Given the description of an element on the screen output the (x, y) to click on. 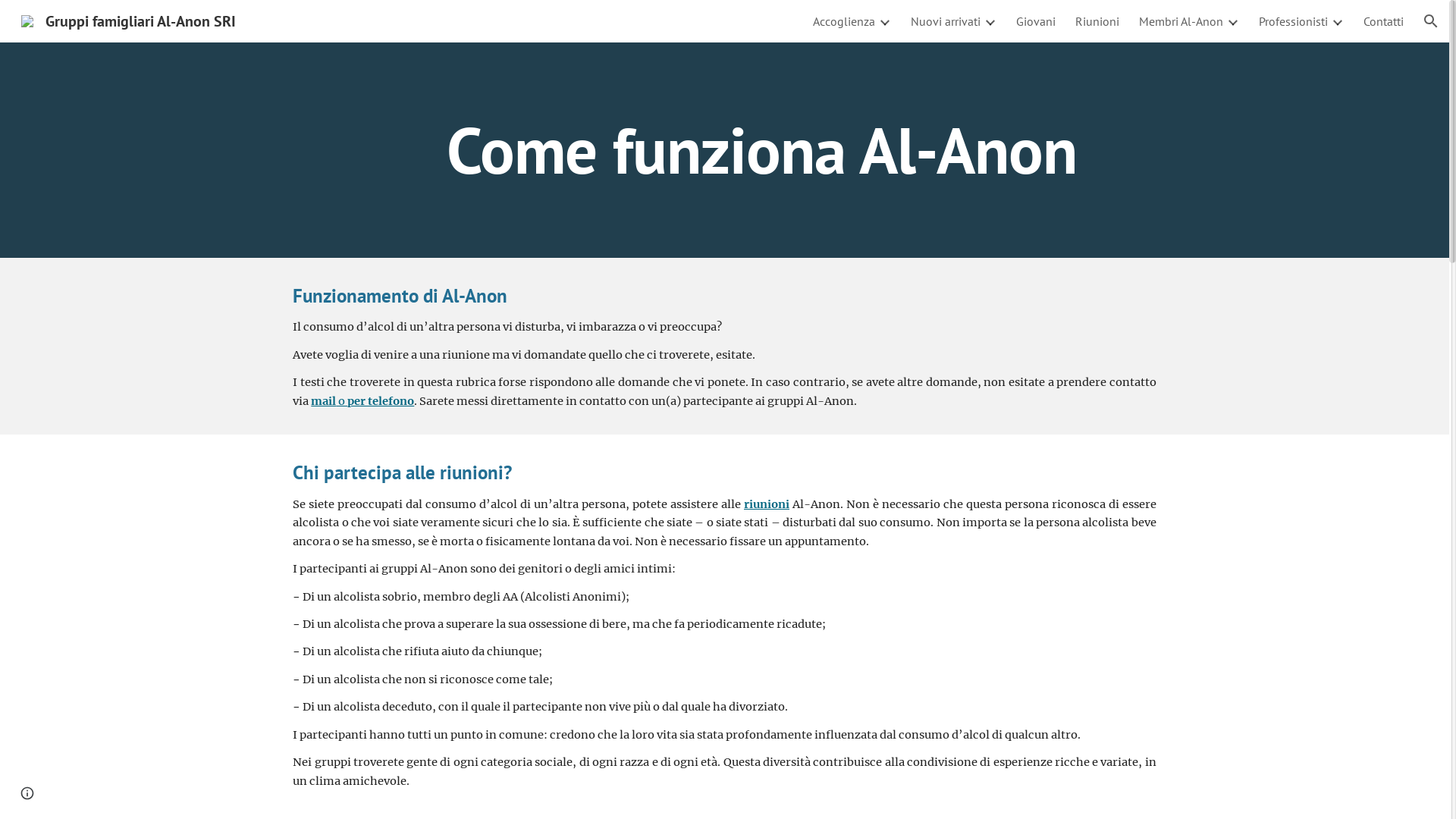
per telefono Element type: text (380, 400)
mail Element type: text (322, 400)
Nuovi arrivati Element type: text (945, 20)
Expand/Collapse Element type: hover (1232, 20)
Riunioni Element type: text (1097, 20)
Expand/Collapse Element type: hover (989, 20)
Contatti Element type: text (1383, 20)
Giovani Element type: text (1035, 20)
Professionisti Element type: text (1292, 20)
Accoglienza Element type: text (843, 20)
Membri Al-Anon Element type: text (1181, 20)
Expand/Collapse Element type: hover (1336, 20)
Expand/Collapse Element type: hover (884, 20)
riunioni Element type: text (766, 504)
o Element type: text (341, 400)
Gruppi famigliari Al-Anon SRI Element type: text (128, 19)
